Given the description of an element on the screen output the (x, y) to click on. 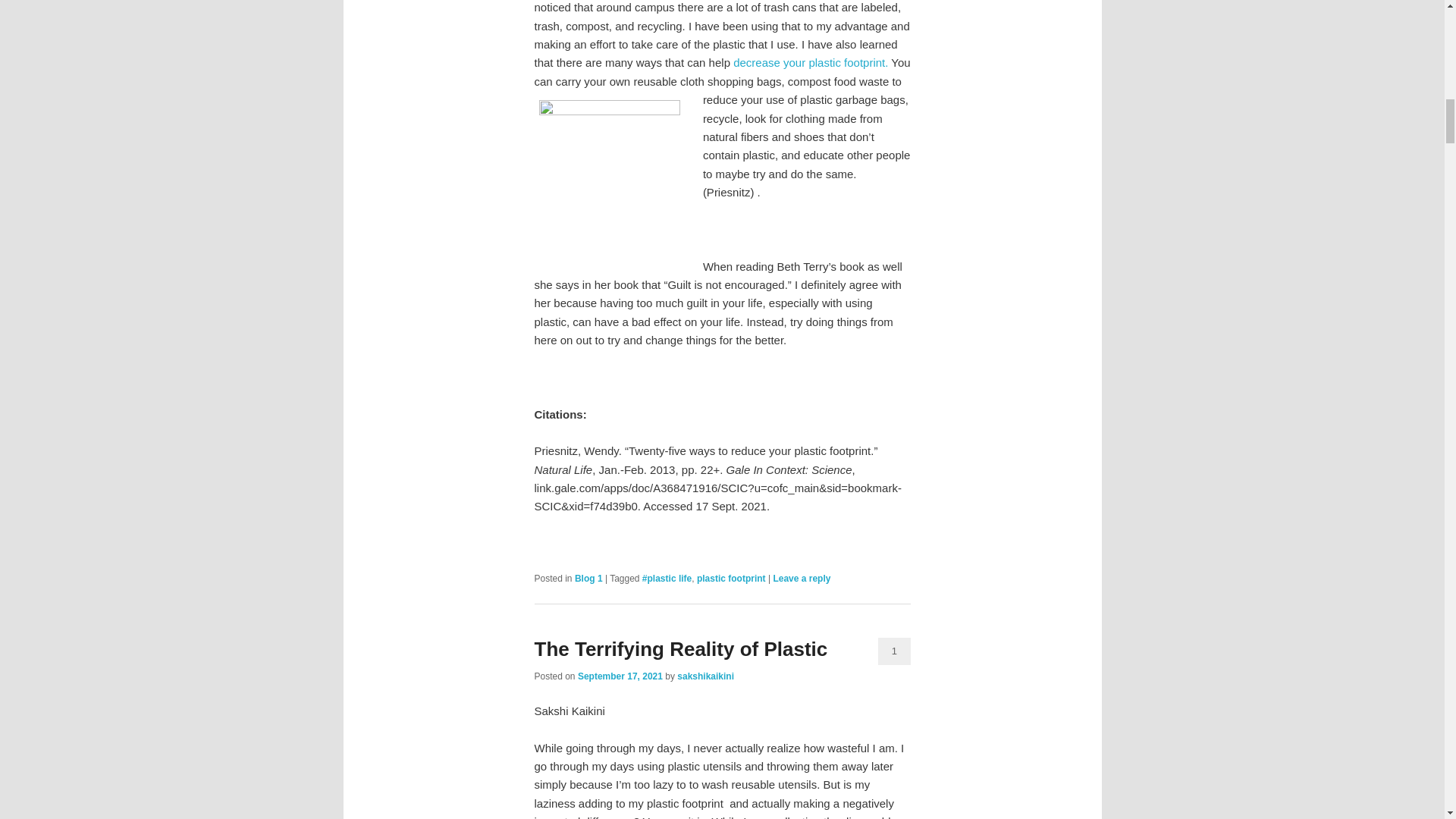
Leave a reply (801, 578)
September 17, 2021 (620, 675)
Permalink to The Terrifying Reality of Plastic (680, 649)
decrease your plastic footprint. (810, 62)
View all posts by sakshikaikini (705, 675)
1 (894, 651)
Blog 1 (588, 578)
plastic footprint (731, 578)
sakshikaikini (705, 675)
11:01 pm (620, 675)
